Given the description of an element on the screen output the (x, y) to click on. 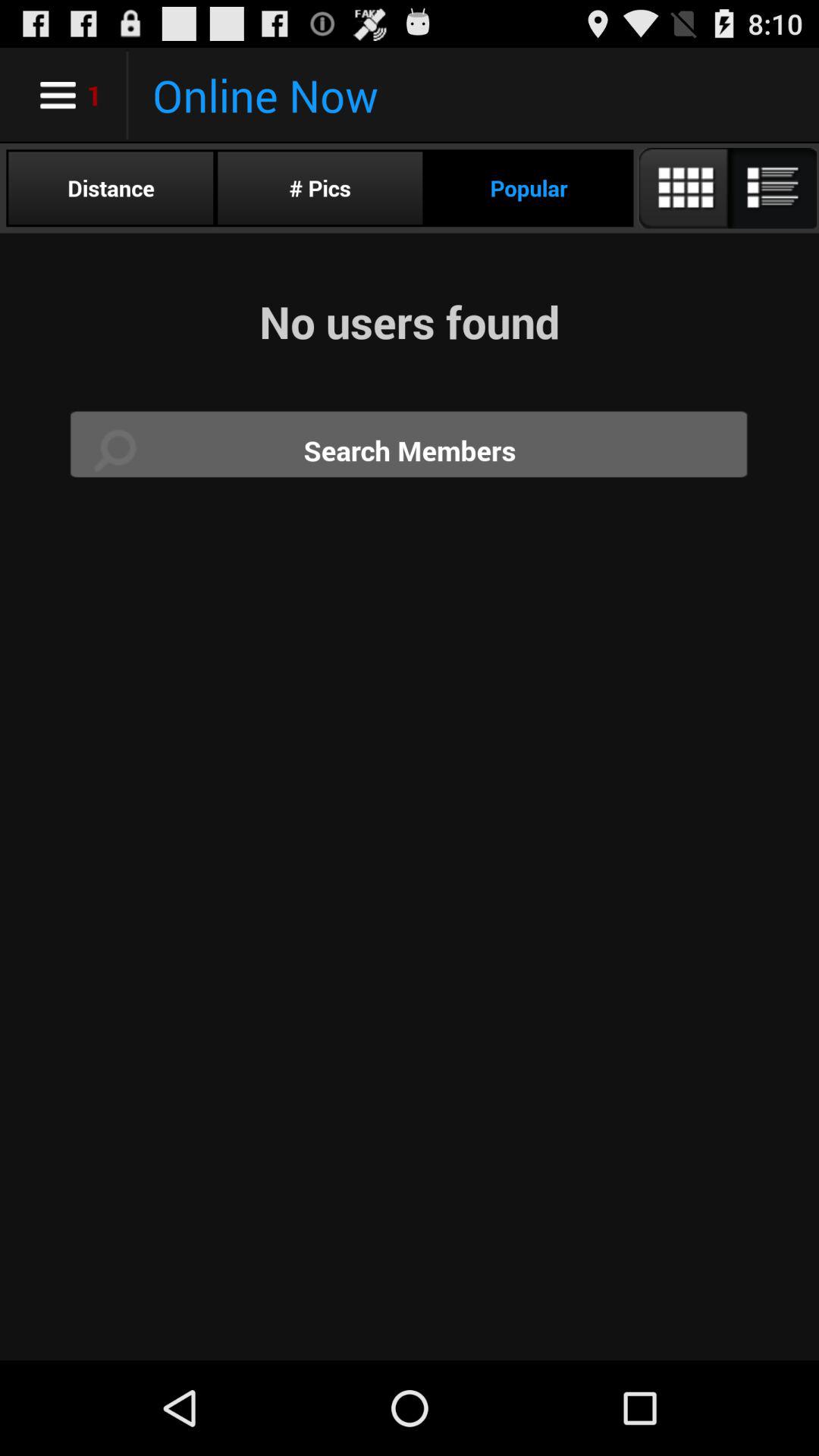
jump to the popular (528, 187)
